Given the description of an element on the screen output the (x, y) to click on. 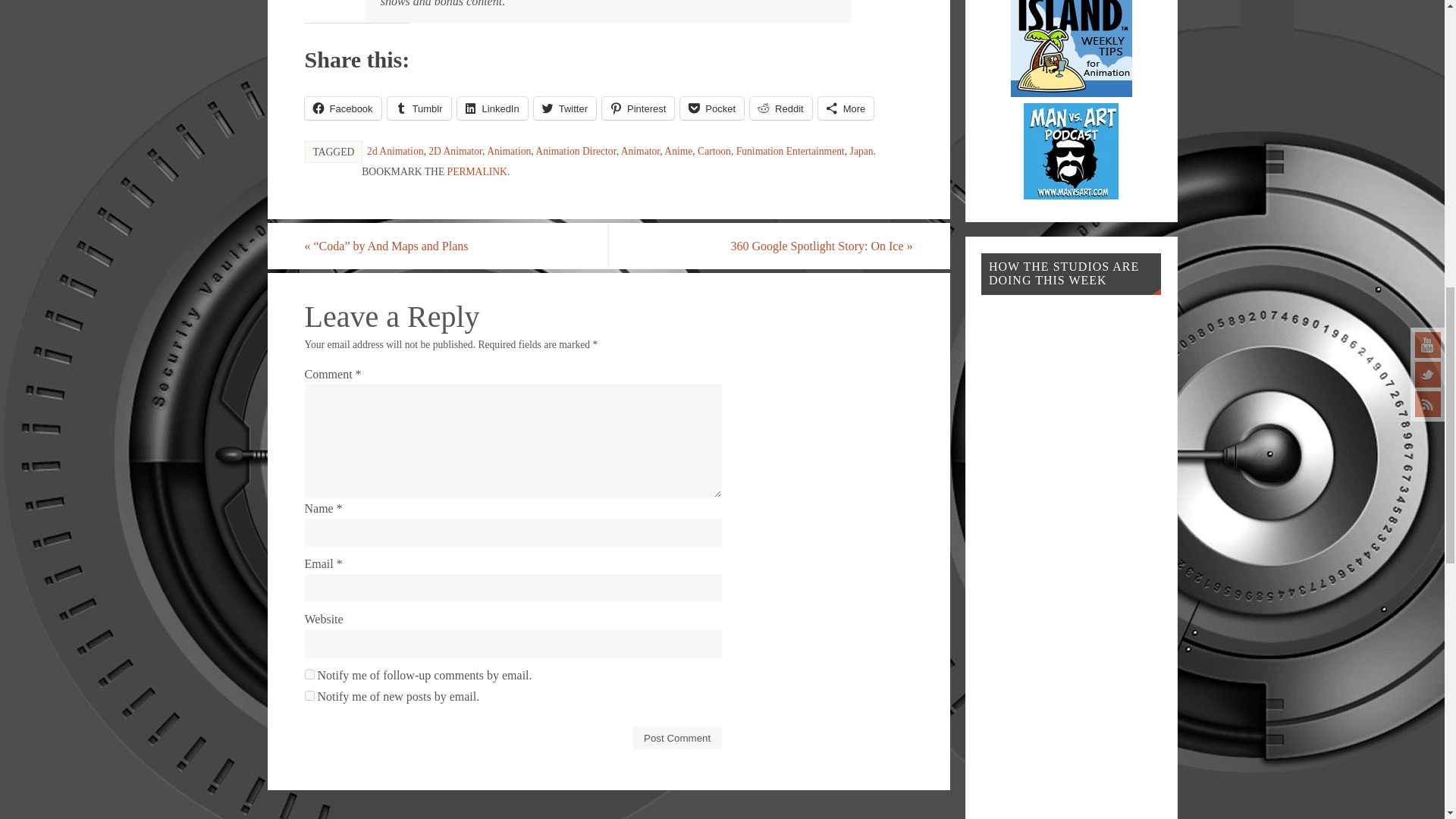
Post Comment (677, 737)
Tumblr (419, 108)
Click to share on Facebook (342, 108)
2d Animation (394, 151)
Animation Director (575, 151)
Click to share on Tumblr (419, 108)
Pocket (711, 108)
subscribe (309, 674)
Animator (641, 151)
subscribe (309, 696)
